Given the description of an element on the screen output the (x, y) to click on. 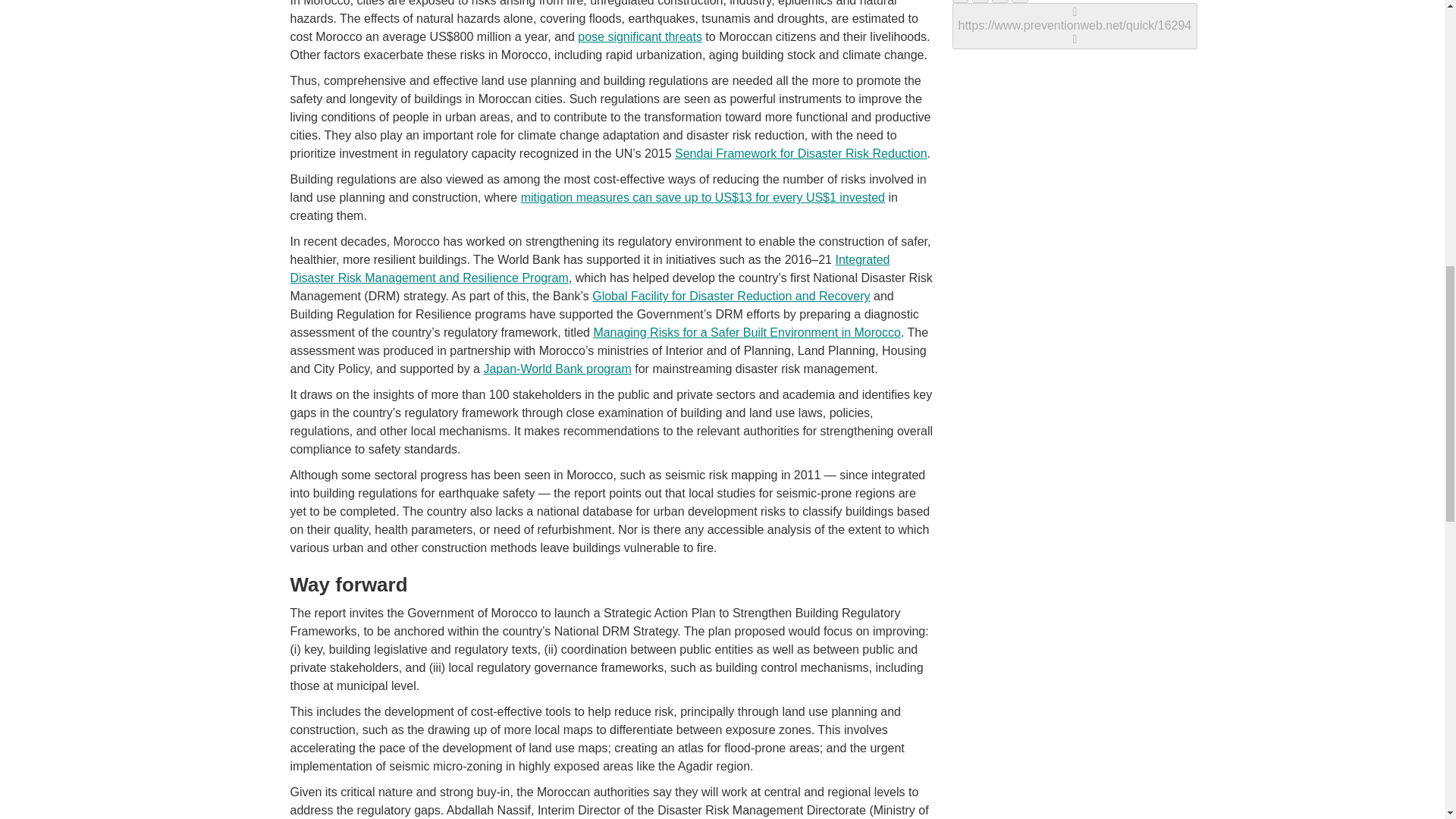
Share on Facebook (960, 1)
Share on Twitter (980, 1)
Sendai Framework for Disaster Risk Reduction (801, 153)
pose significant threats (639, 36)
Share via Email (1019, 1)
Japan-World Bank program (556, 368)
Global Facility for Disaster Reduction and Recovery (730, 295)
Share on LinkedIn (1000, 1)
Managing Risks for a Safer Built Environment in Morocco (746, 332)
Copy to Clipboard (1075, 26)
